Given the description of an element on the screen output the (x, y) to click on. 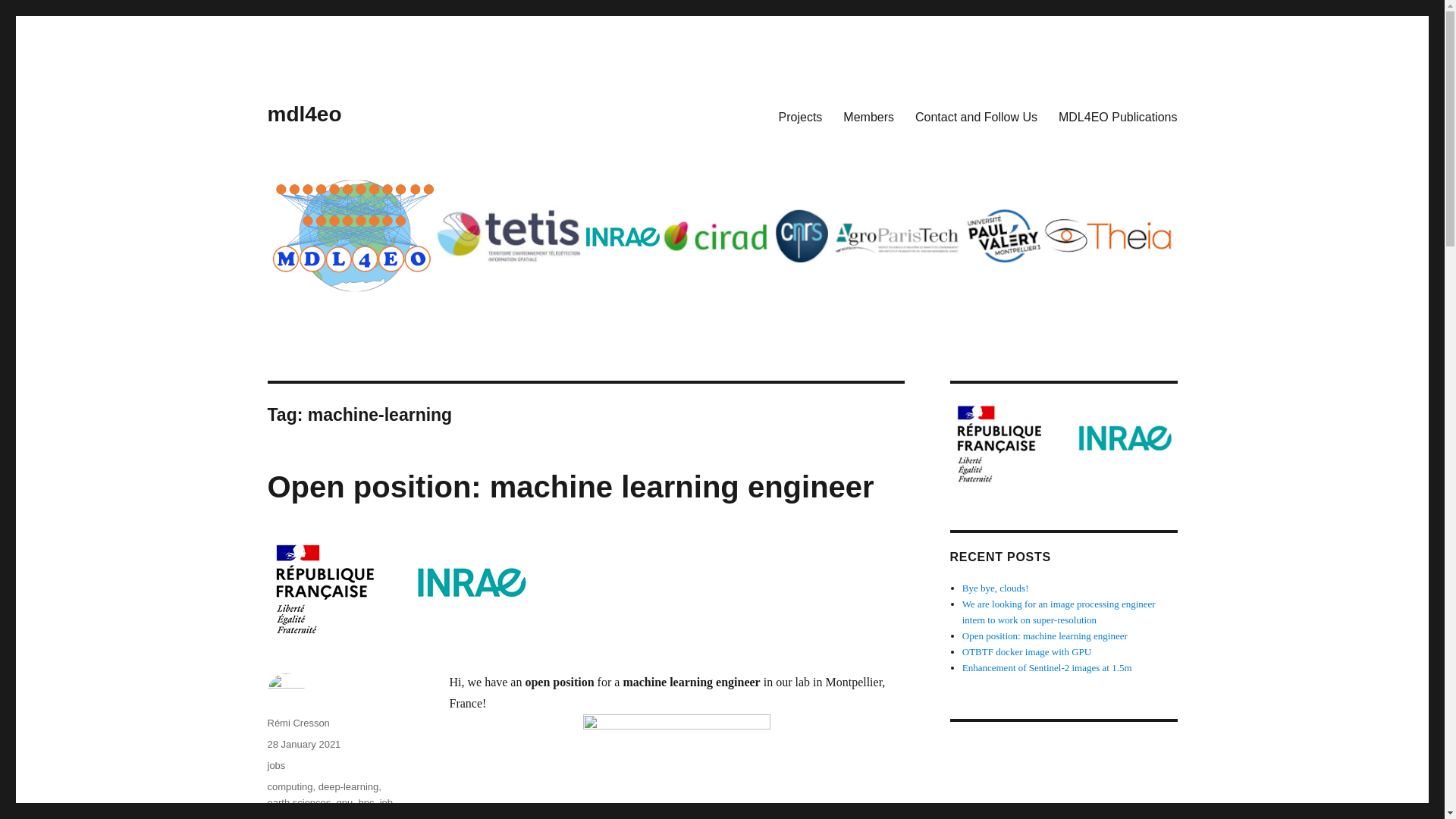
jobs (275, 765)
computing (289, 786)
Bye bye, clouds! (995, 587)
open-position (331, 816)
Contact and Follow Us (976, 116)
machine-learning (328, 816)
jobs (275, 816)
MDL4EO Publications (1118, 116)
mdl4eo (303, 114)
gpu (344, 802)
earth sciences (298, 802)
28 January 2021 (303, 744)
job (386, 802)
hpc (366, 802)
